Given the description of an element on the screen output the (x, y) to click on. 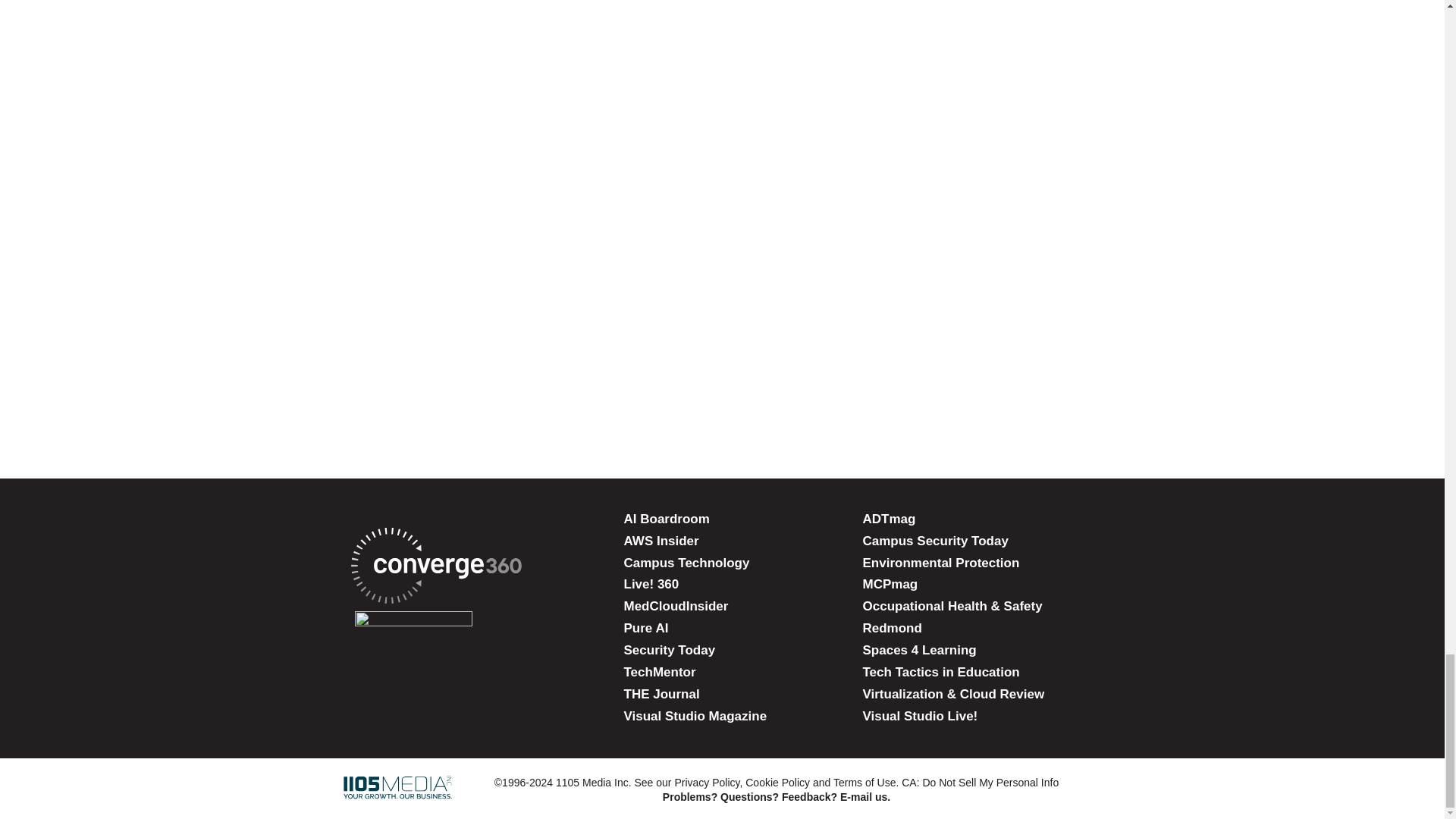
3rd party ad content (721, 167)
3rd party ad content (722, 51)
